Given the description of an element on the screen output the (x, y) to click on. 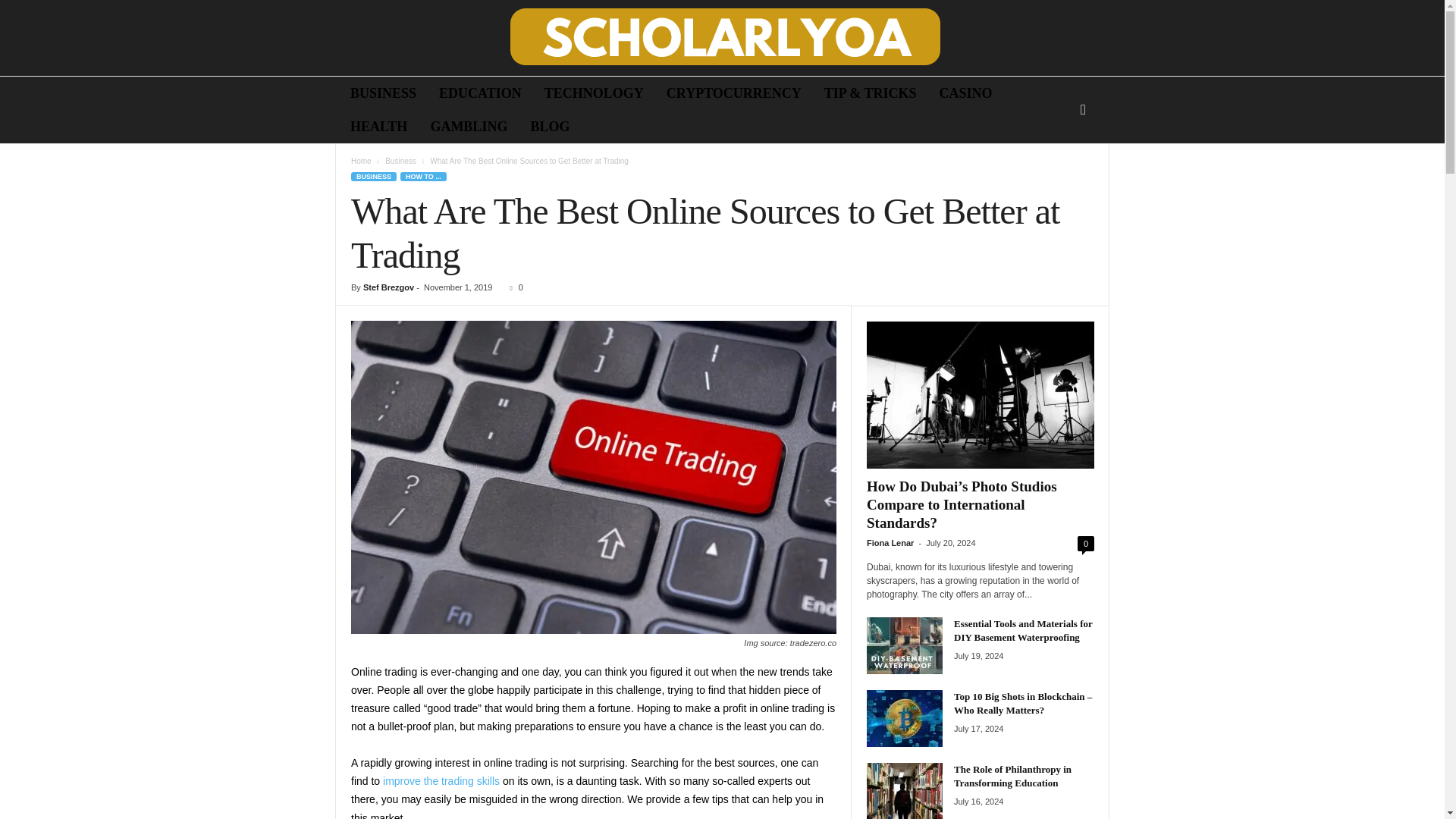
BUSINESS (373, 175)
GAMBLING (468, 126)
Stef Brezgov (387, 286)
CASINO (966, 92)
TECHNOLOGY (593, 92)
BUSINESS (383, 92)
Business (400, 161)
View all posts in Business (400, 161)
CRYPTOCURRENCY (733, 92)
Home (360, 161)
BLOG (549, 126)
HOW TO ... (423, 175)
0 (512, 286)
EDUCATION (480, 92)
HEALTH (379, 126)
